Given the description of an element on the screen output the (x, y) to click on. 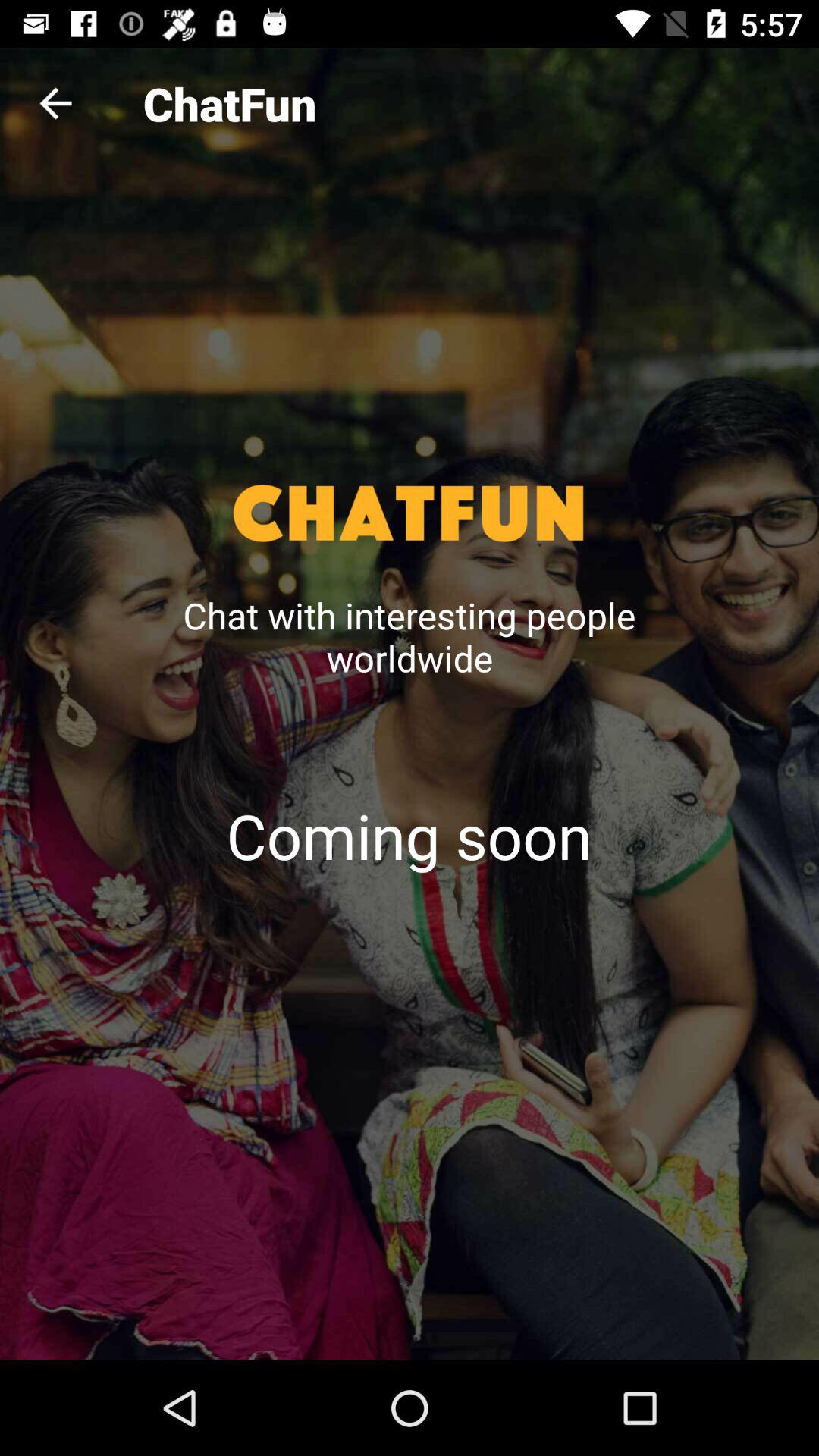
select icon above chat with interesting item (55, 103)
